Given the description of an element on the screen output the (x, y) to click on. 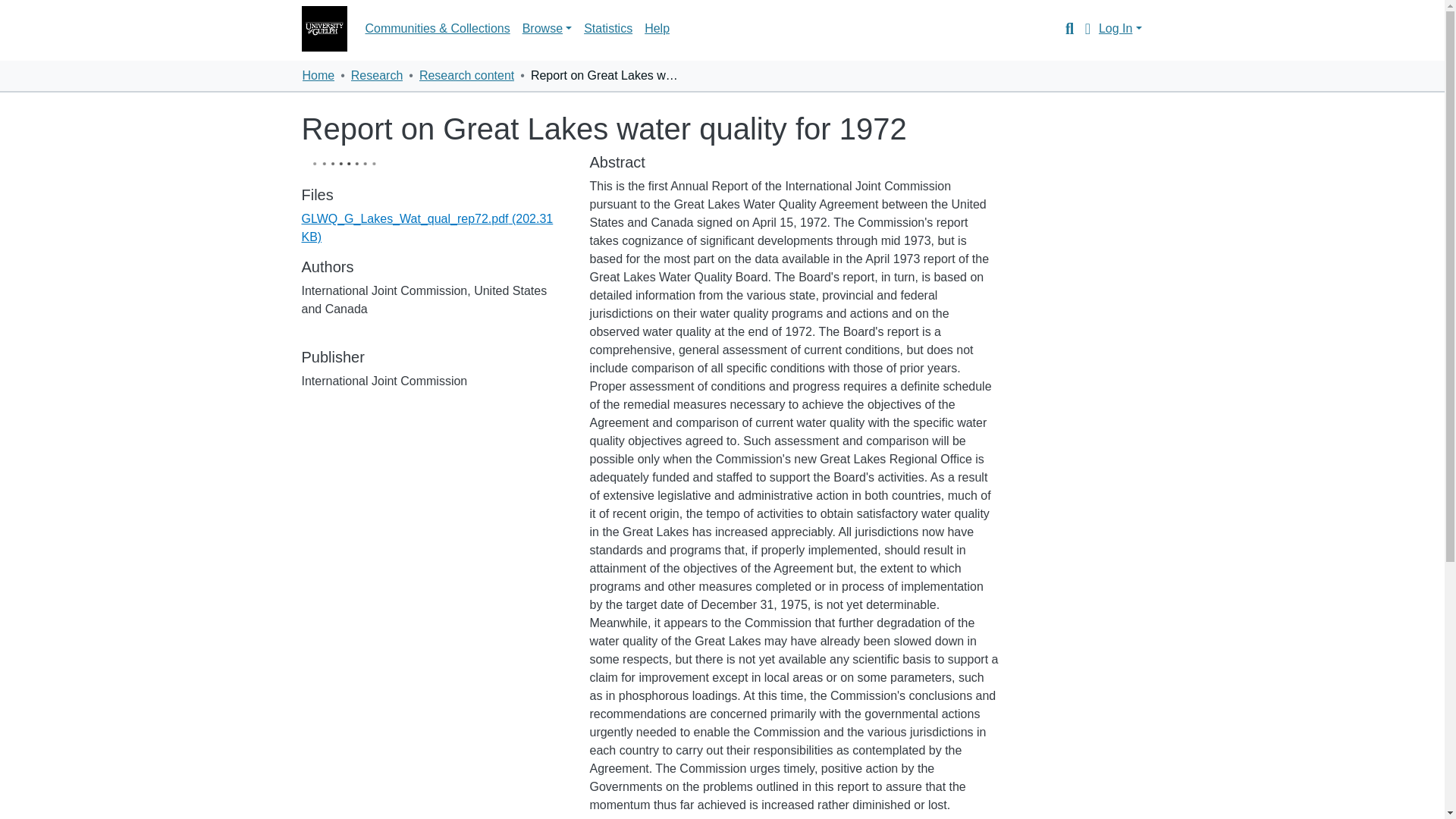
Submit search (1066, 28)
Language switch (1087, 28)
Home (317, 75)
Browse (547, 28)
Help (657, 28)
Statistics (608, 28)
Statistics (608, 28)
Log In (1119, 28)
Research content (466, 75)
Search (1066, 28)
